Given the description of an element on the screen output the (x, y) to click on. 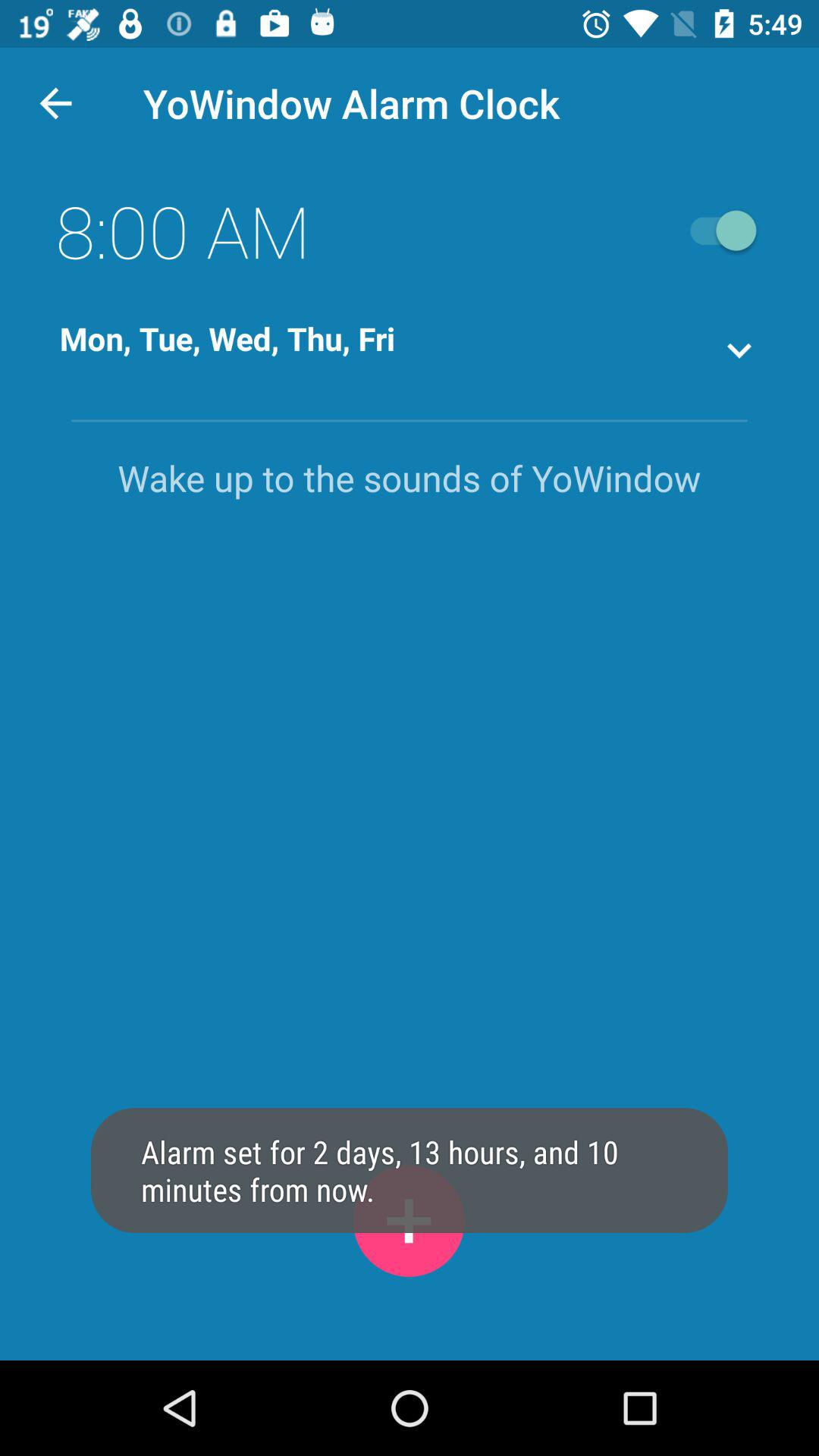
open close button (715, 230)
